Given the description of an element on the screen output the (x, y) to click on. 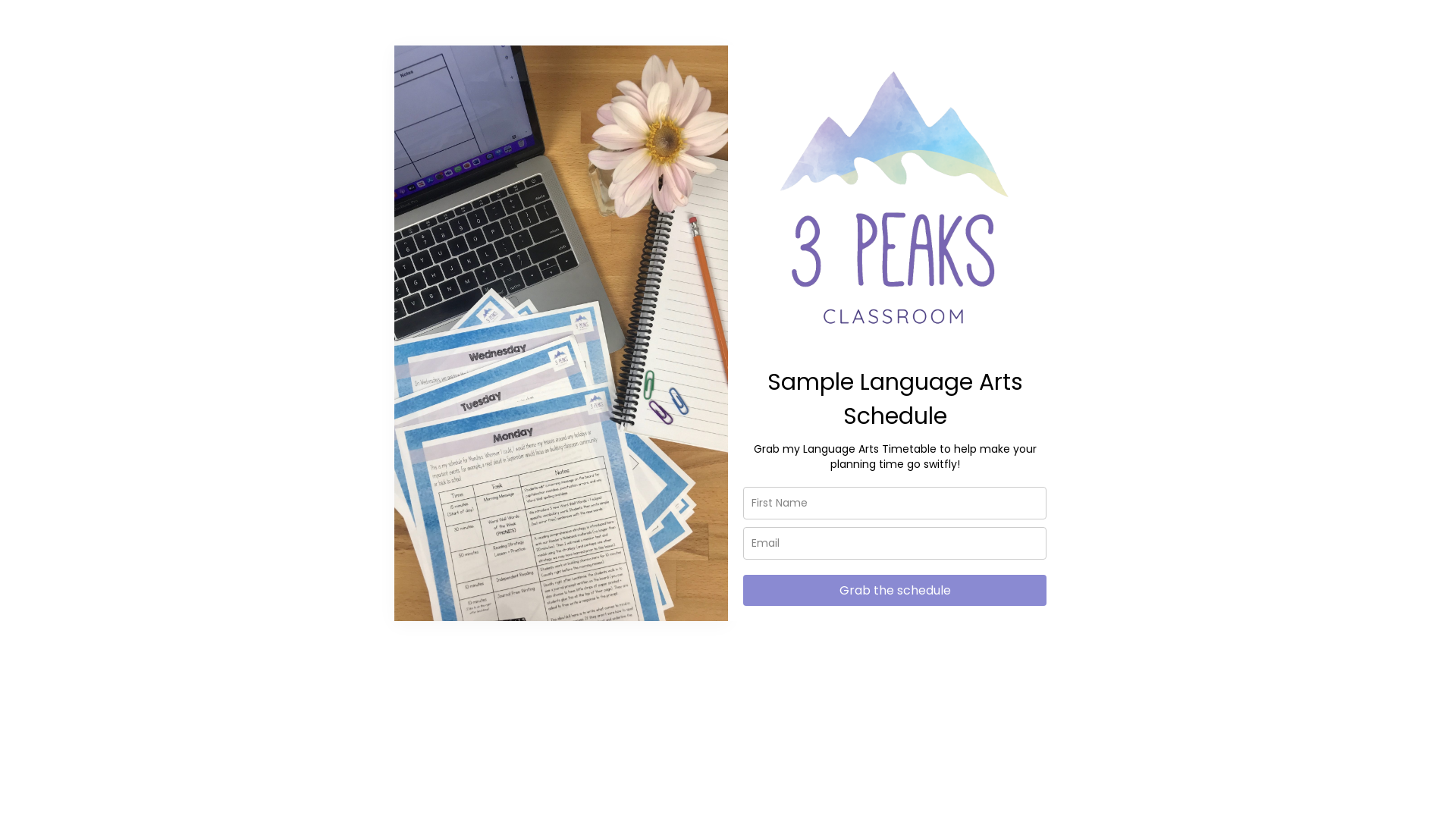
Grab the schedule Element type: text (894, 589)
Skip to content Element type: text (15, 7)
